Given the description of an element on the screen output the (x, y) to click on. 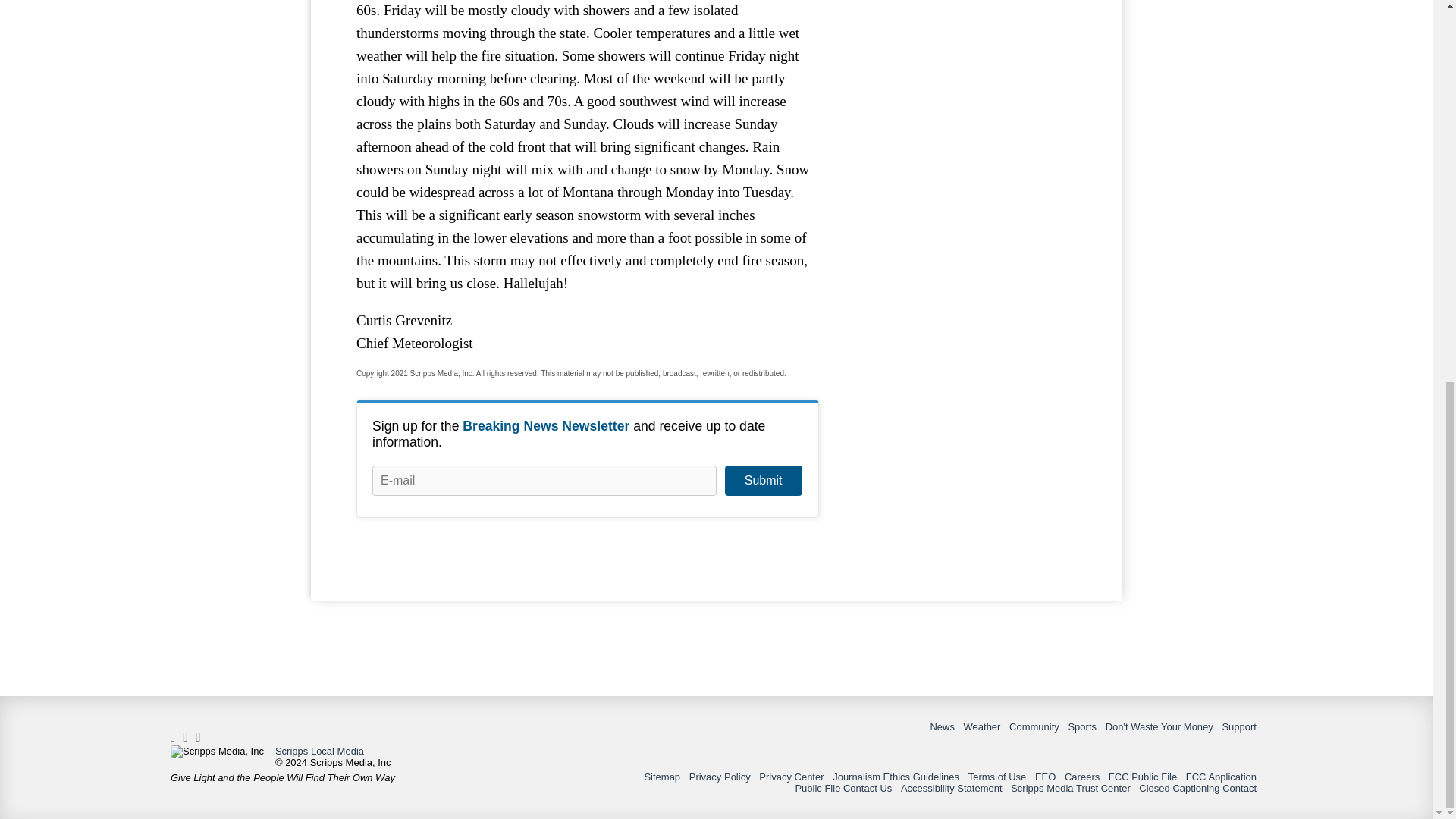
Submit (763, 481)
